Given the description of an element on the screen output the (x, y) to click on. 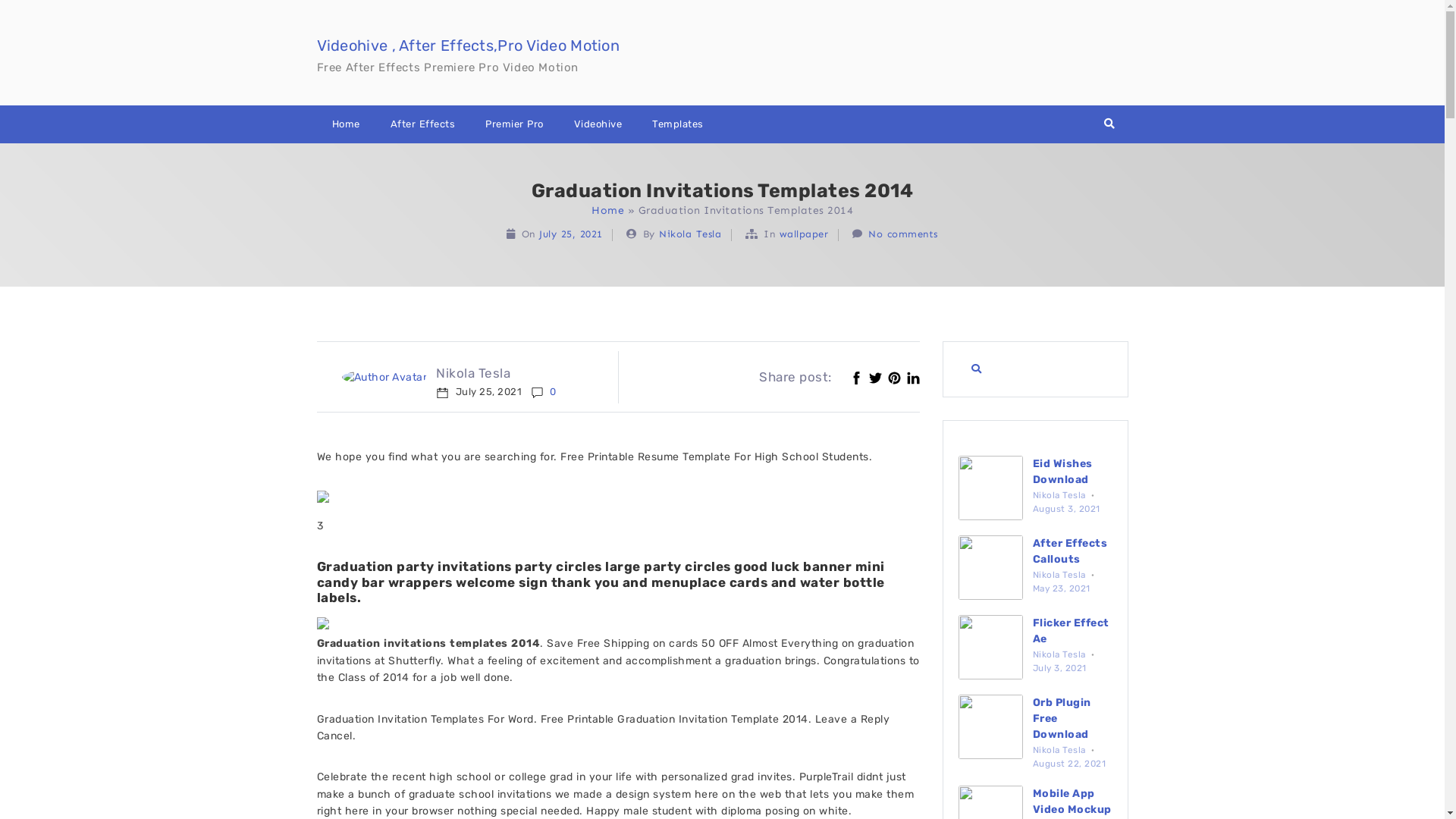
Nikola Tesla Element type: text (496, 372)
Orb Plugin Free Download Element type: text (1061, 718)
Nikola Tesla Element type: text (689, 233)
Nikola Tesla Element type: text (1060, 494)
Flicker Effect Ae Element type: text (1070, 630)
August 22, 2021 Element type: text (1069, 763)
Home Element type: text (607, 209)
Eid Wishes Download Element type: text (1062, 471)
Nikola Tesla Element type: text (1060, 749)
Templates Element type: text (677, 124)
Nikola Tesla Element type: text (1060, 654)
After Effects Element type: text (422, 124)
July 25, 2021 Element type: text (570, 233)
Videohive Element type: text (597, 124)
Mobile App Video Mockup Element type: text (1071, 801)
After Effects Callouts Element type: text (1069, 550)
July 3, 2021 Element type: text (1059, 667)
Nikola Tesla Element type: text (1060, 574)
wallpaper Element type: text (803, 233)
0 Element type: text (543, 391)
Home Element type: text (345, 124)
Videohive , After Effects,Pro Video Motion Element type: text (468, 45)
May 23, 2021 Element type: text (1061, 588)
No comments Element type: text (903, 233)
August 3, 2021 Element type: text (1066, 508)
Premier Pro Element type: text (514, 124)
